Given the description of an element on the screen output the (x, y) to click on. 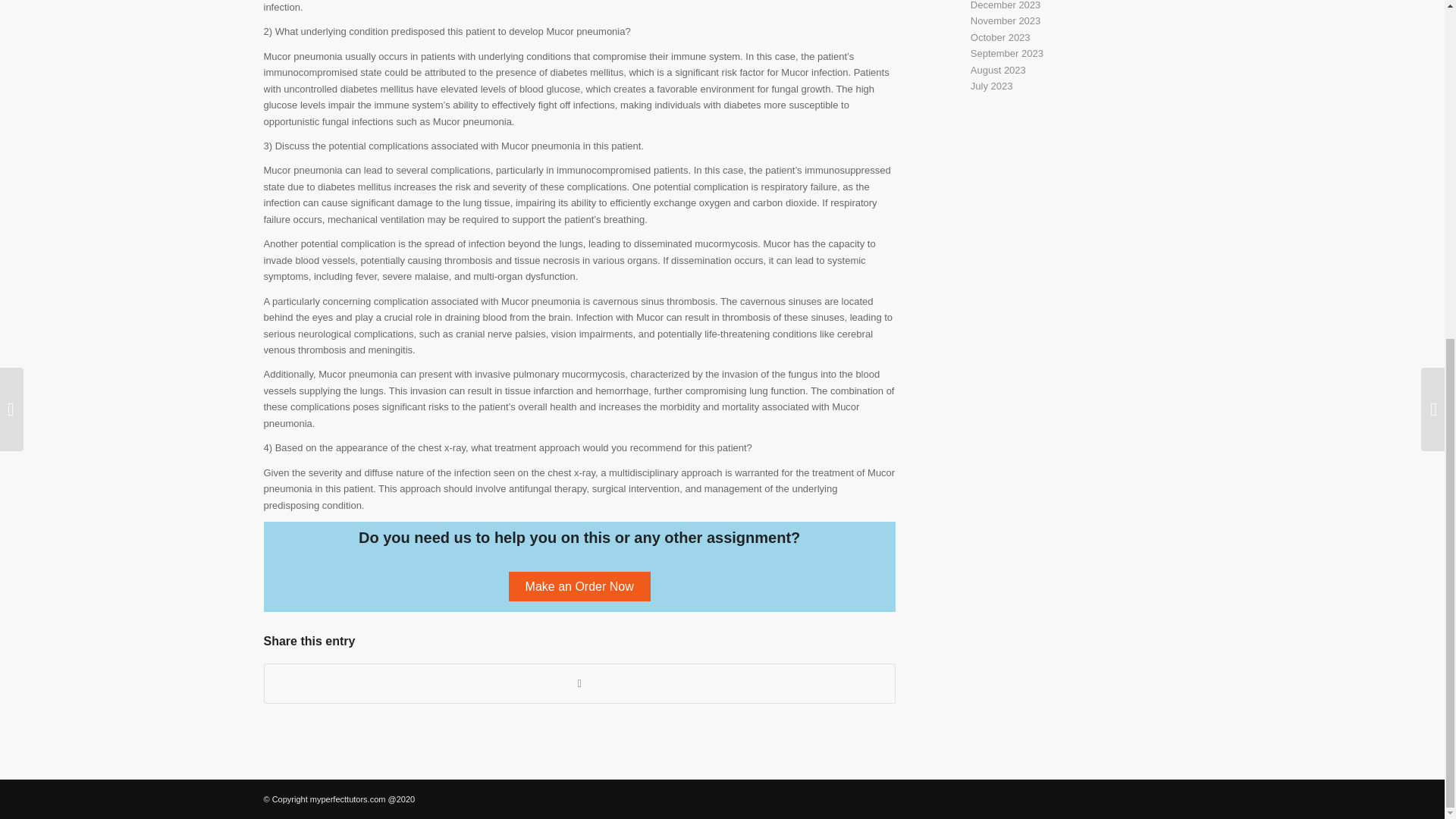
August 2023 (998, 70)
December 2023 (1006, 5)
Make an Order Now (579, 586)
November 2023 (1006, 20)
September 2023 (1007, 52)
October 2023 (1000, 37)
July 2023 (992, 85)
